Given the description of an element on the screen output the (x, y) to click on. 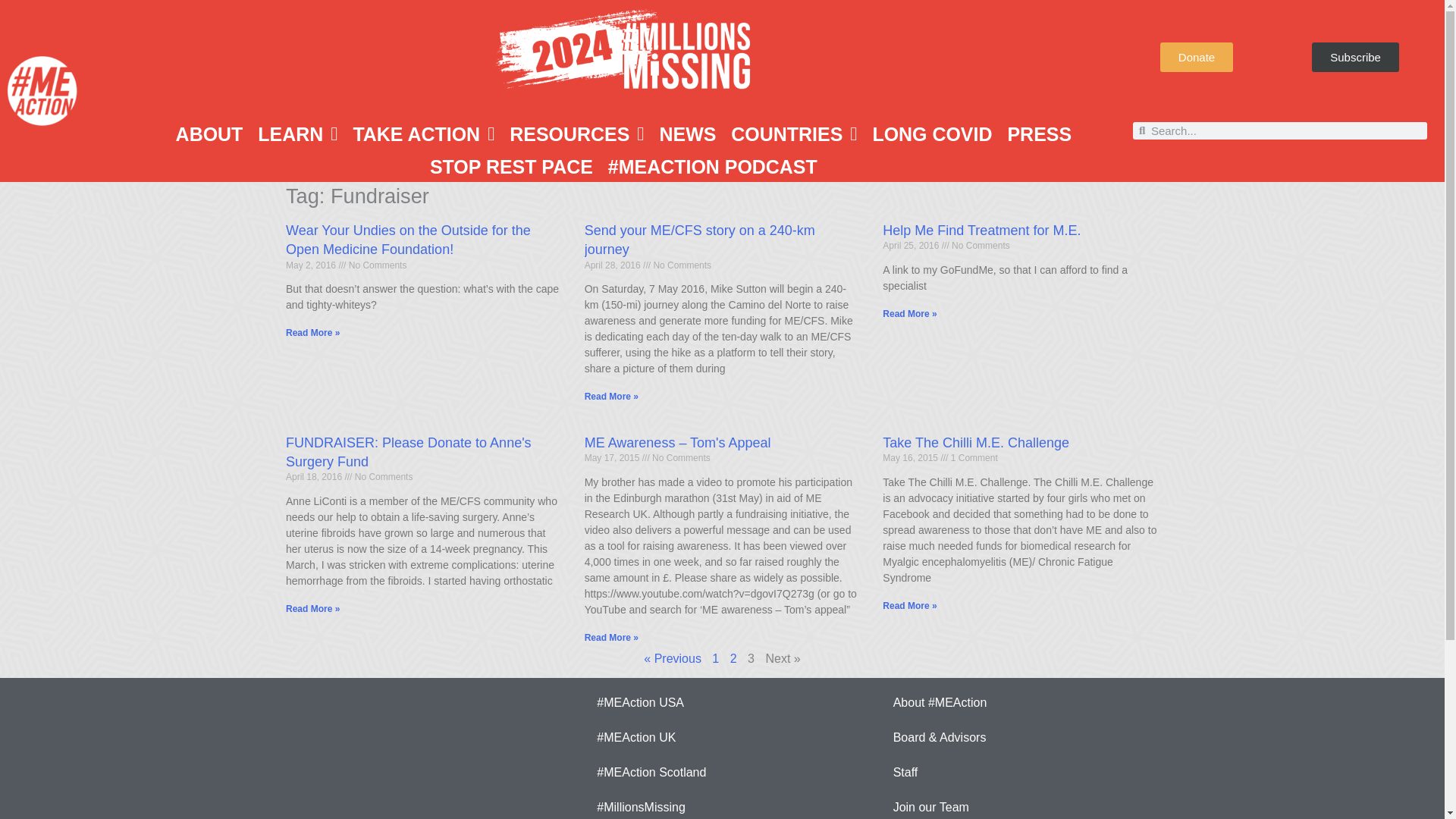
TAKE ACTION (423, 134)
RESOURCES (576, 134)
COUNTRIES (793, 134)
LONG COVID (931, 134)
STOP REST PACE (510, 166)
ABOUT (209, 134)
LEARN (297, 134)
PRESS (1038, 134)
NEWS (686, 134)
